Given the description of an element on the screen output the (x, y) to click on. 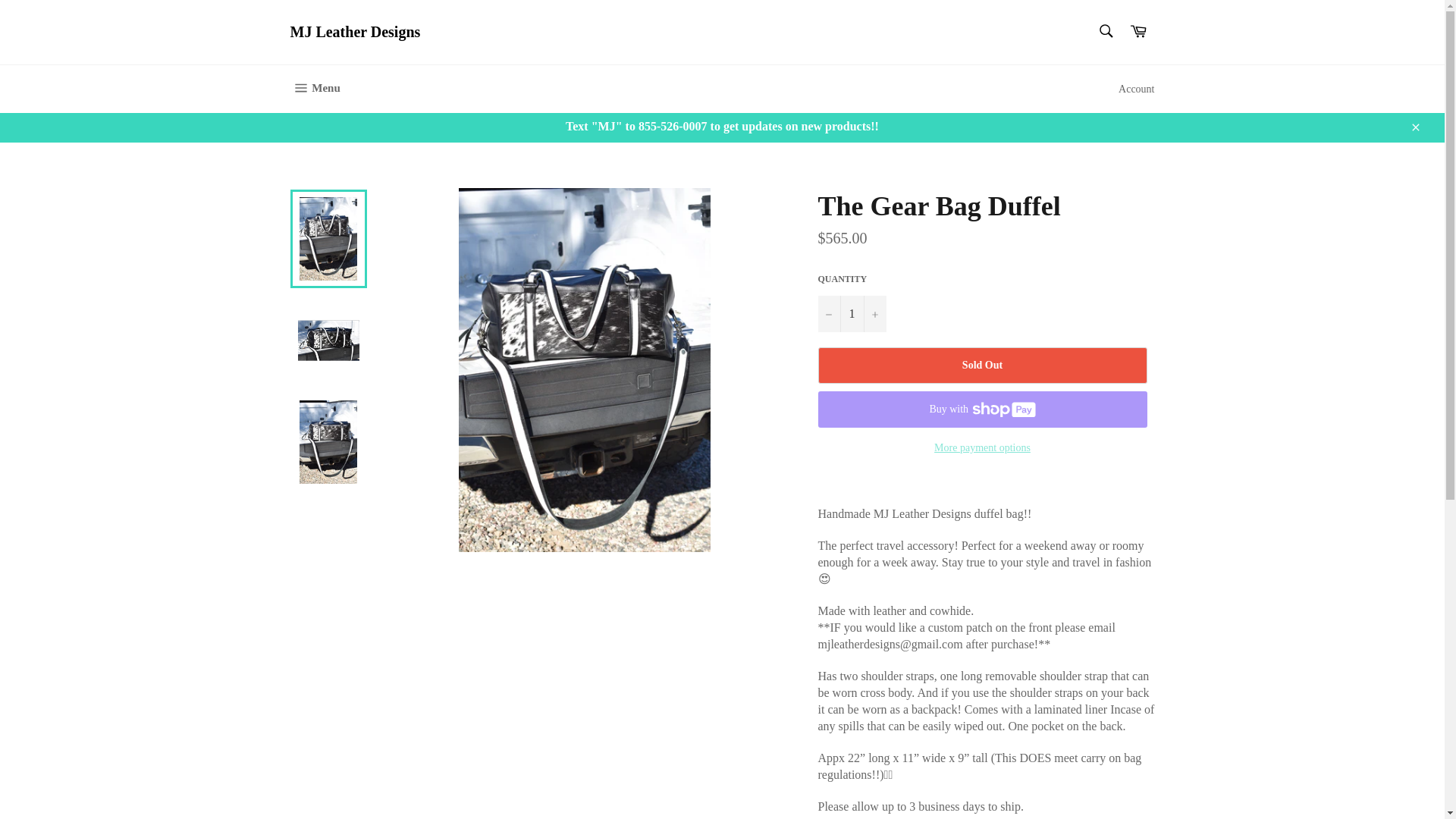
1 (850, 313)
